Given the description of an element on the screen output the (x, y) to click on. 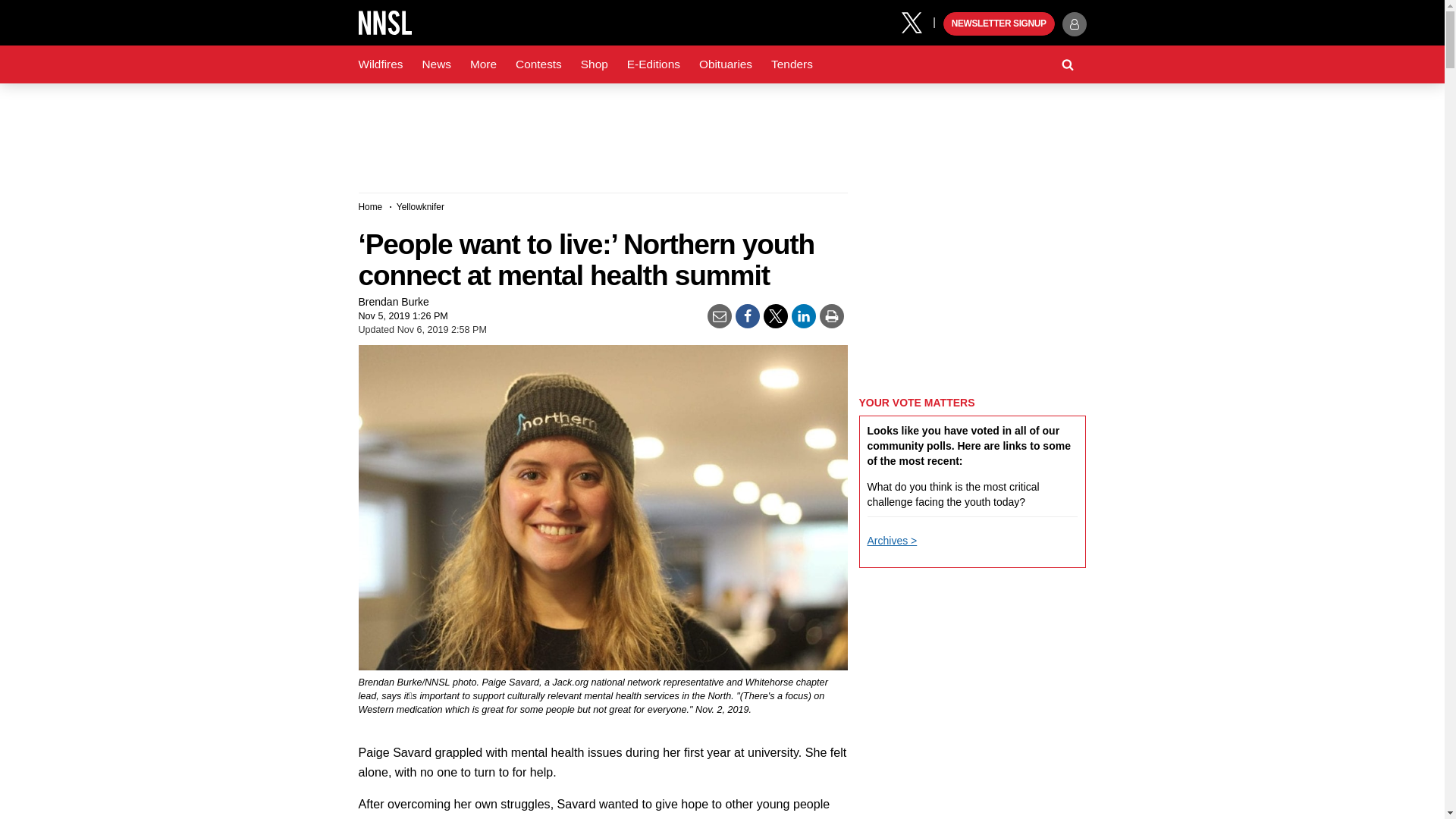
Tenders (791, 64)
E-Editions (653, 64)
Obituaries (725, 64)
X (917, 21)
NEWSLETTER SIGNUP (998, 24)
Wildfires (380, 64)
